Given the description of an element on the screen output the (x, y) to click on. 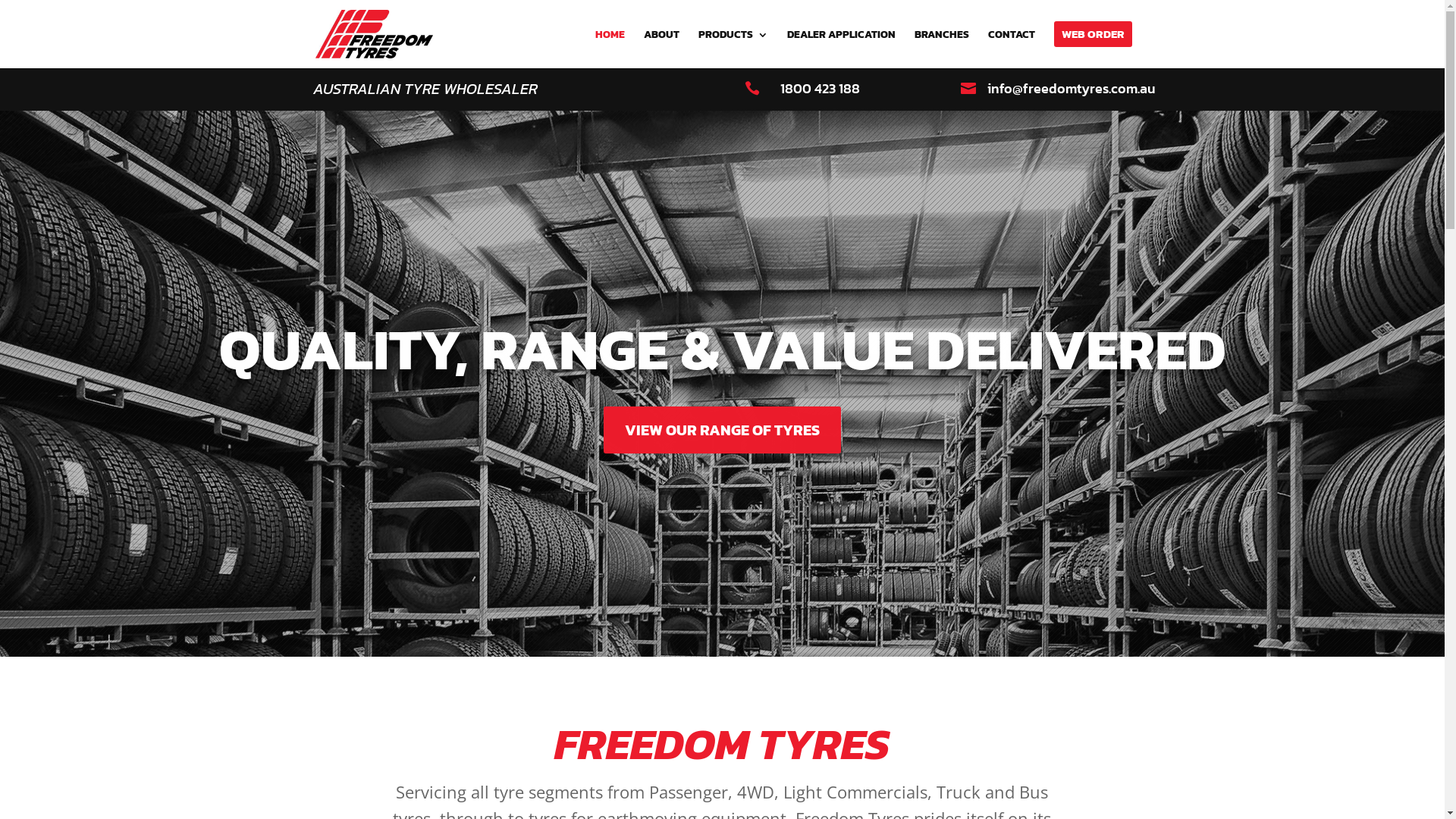
VIEW OUR RANGE OF TYRES Element type: text (721, 429)
ABOUT Element type: text (660, 48)
HOME Element type: text (609, 48)
info@freedomtyres.com.au Element type: text (1071, 88)
QUALITY, RANGE & VALUE DELIVERED Element type: text (721, 348)
DEALER APPLICATION Element type: text (841, 48)
BRANCHES Element type: text (941, 48)
WEB ORDER Element type: text (1093, 44)
PRODUCTS Element type: text (732, 48)
1800 423 188 Element type: text (819, 88)
CONTACT Element type: text (1010, 48)
